Given the description of an element on the screen output the (x, y) to click on. 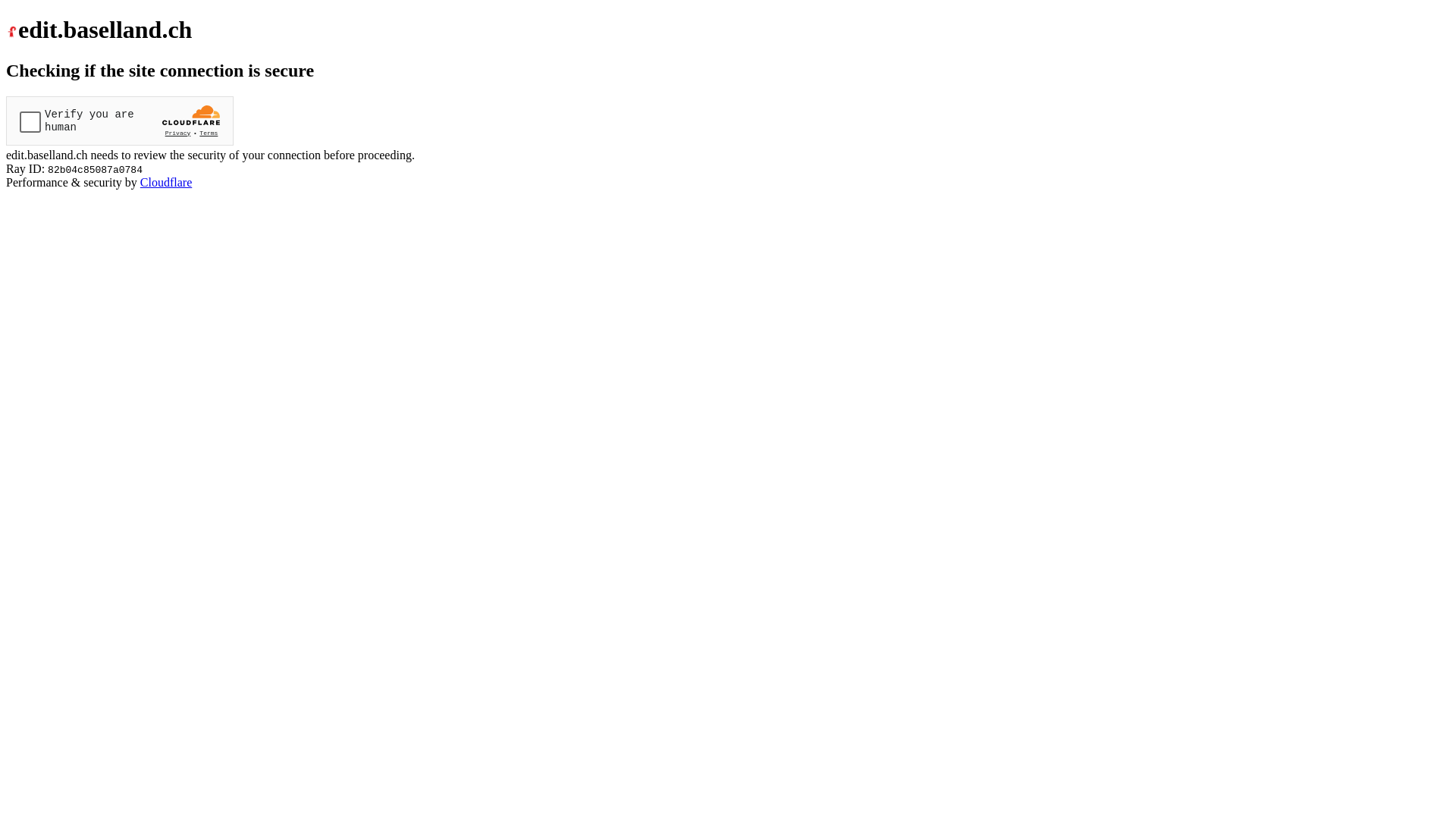
Cloudflare Element type: text (165, 181)
Widget containing a Cloudflare security challenge Element type: hover (119, 120)
